Given the description of an element on the screen output the (x, y) to click on. 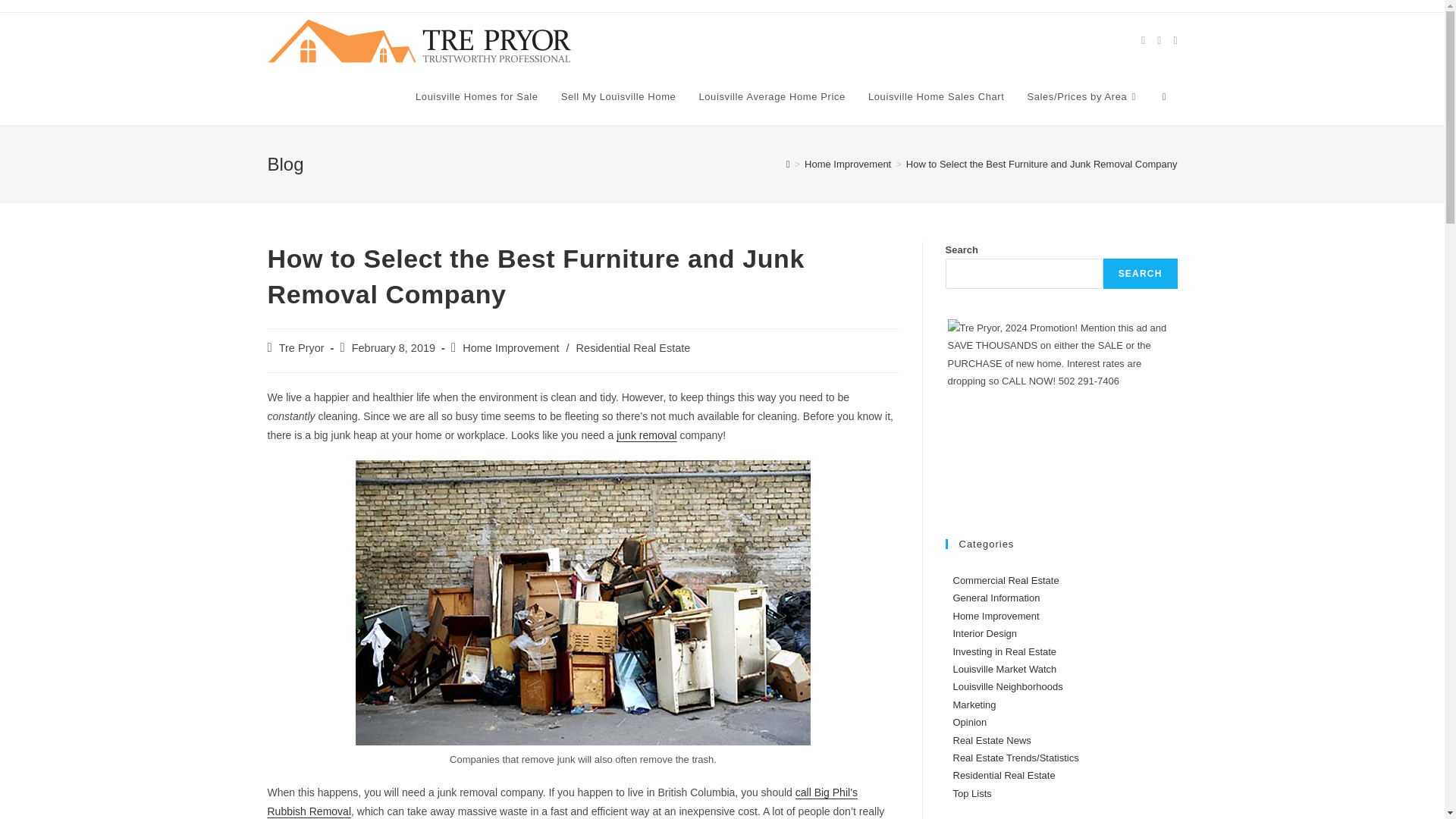
Louisville Home Sales Chart (936, 96)
Louisville Average Home Price (771, 96)
Louisville Homes for Sale (477, 96)
Sell My Louisville Home (618, 96)
Posts by Tre Pryor (301, 347)
